Given the description of an element on the screen output the (x, y) to click on. 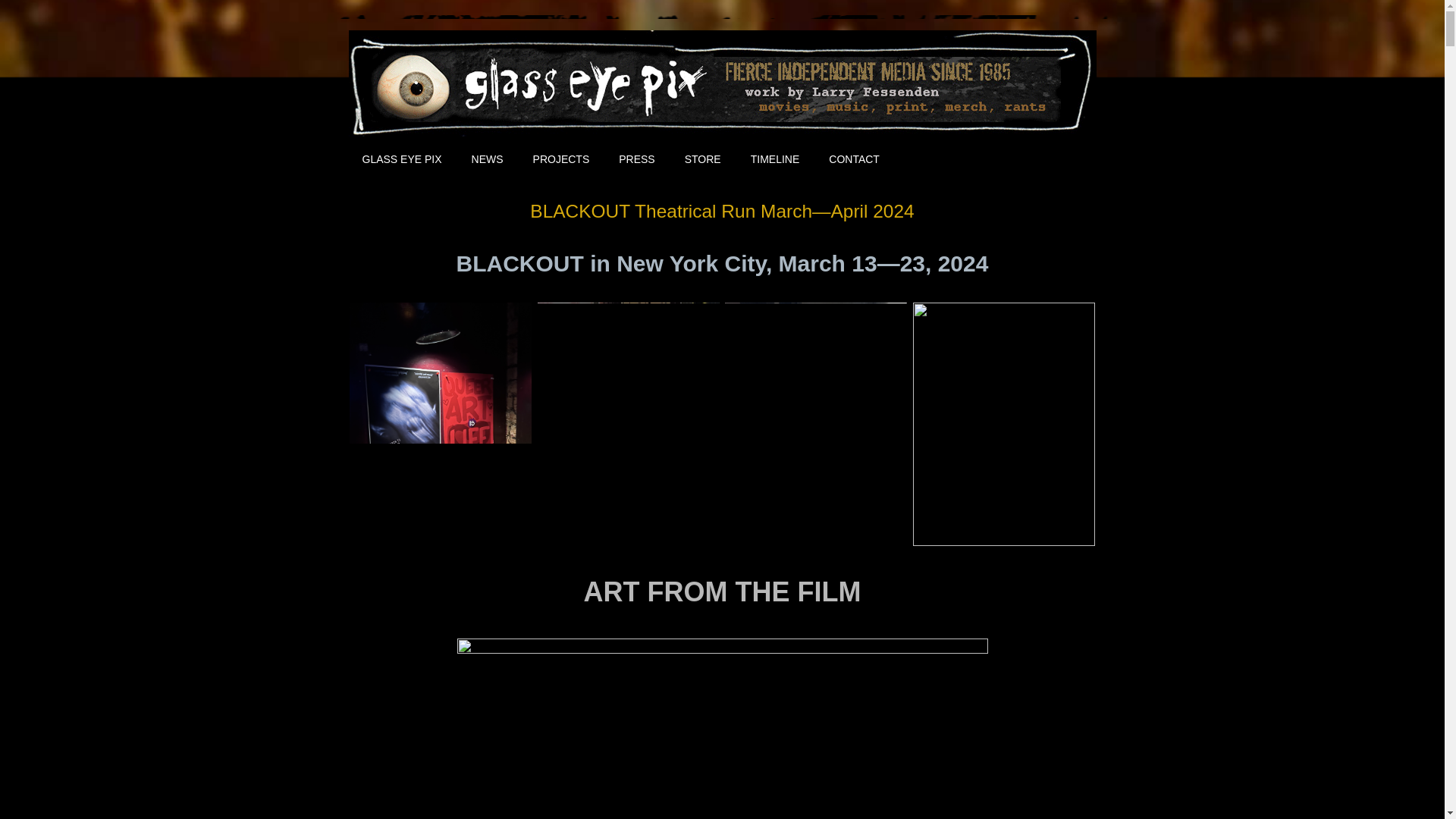
Facebook (924, 158)
PROJECTS (560, 159)
Twitter (957, 158)
PRESS (635, 159)
Youtube (992, 158)
TIMELINE (775, 159)
CONTACT (853, 159)
Instagram (1025, 158)
STORE (702, 159)
Soundcloud (1060, 158)
NEWS (487, 159)
GLASS EYE PIX (402, 159)
